Given the description of an element on the screen output the (x, y) to click on. 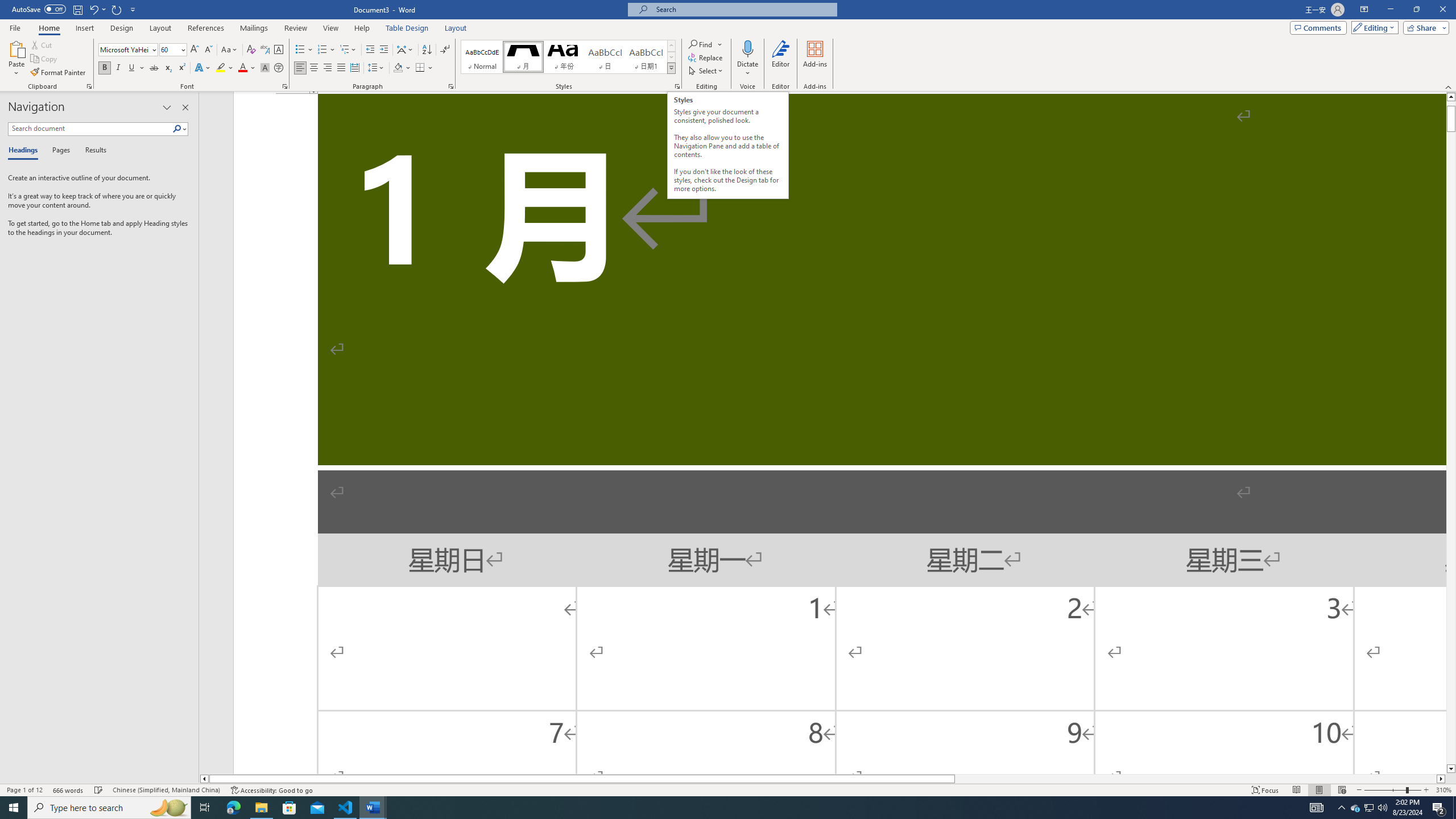
Save (77, 9)
Close (1442, 9)
Quick Access Toolbar (74, 9)
Font... (285, 85)
Close pane (185, 107)
Repeat Doc Close (117, 9)
References (205, 28)
Row up (670, 45)
Open (182, 49)
Editor (780, 58)
Borders (419, 67)
